Given the description of an element on the screen output the (x, y) to click on. 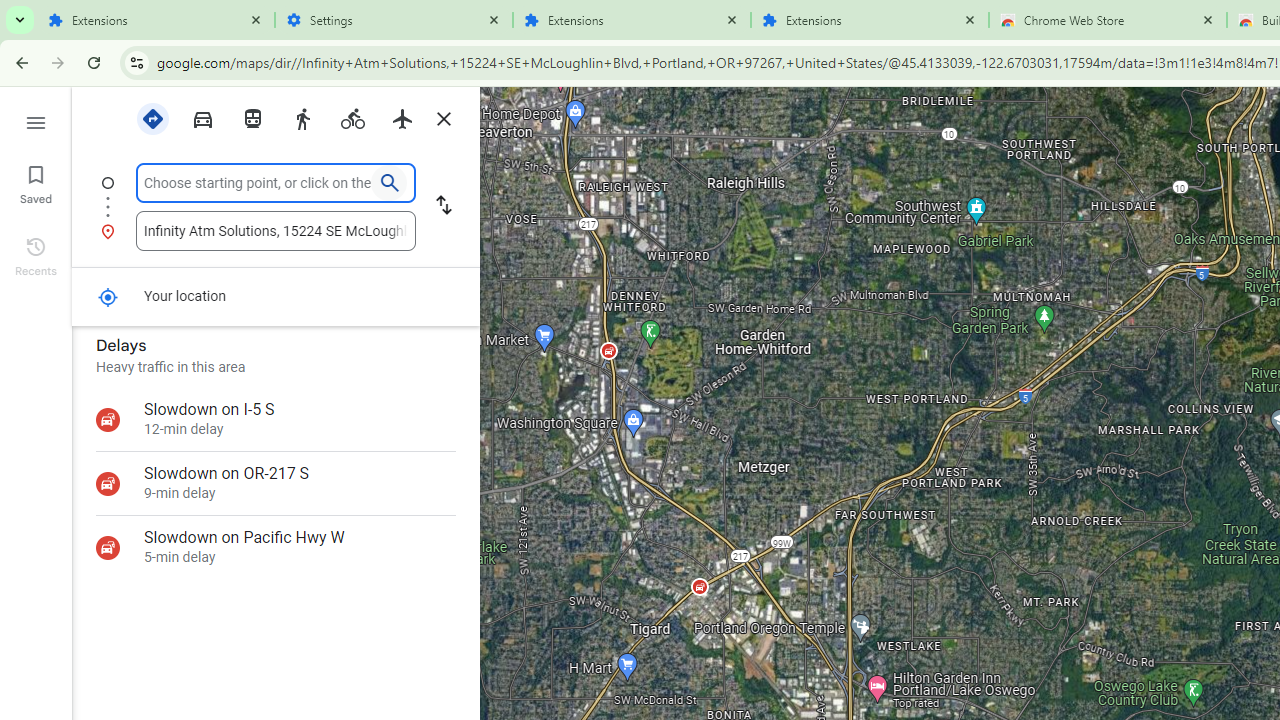
Chrome Web Store (1108, 20)
Cycling (352, 117)
Walking (302, 119)
Transit (252, 119)
Choose starting point, or click on the map... (258, 183)
Reverse starting point and destination (444, 206)
Flights (402, 119)
Extensions (870, 20)
Your location (108, 296)
Extensions (156, 20)
AutomationID: sb_ifc51 (275, 230)
Recents (35, 254)
